Given the description of an element on the screen output the (x, y) to click on. 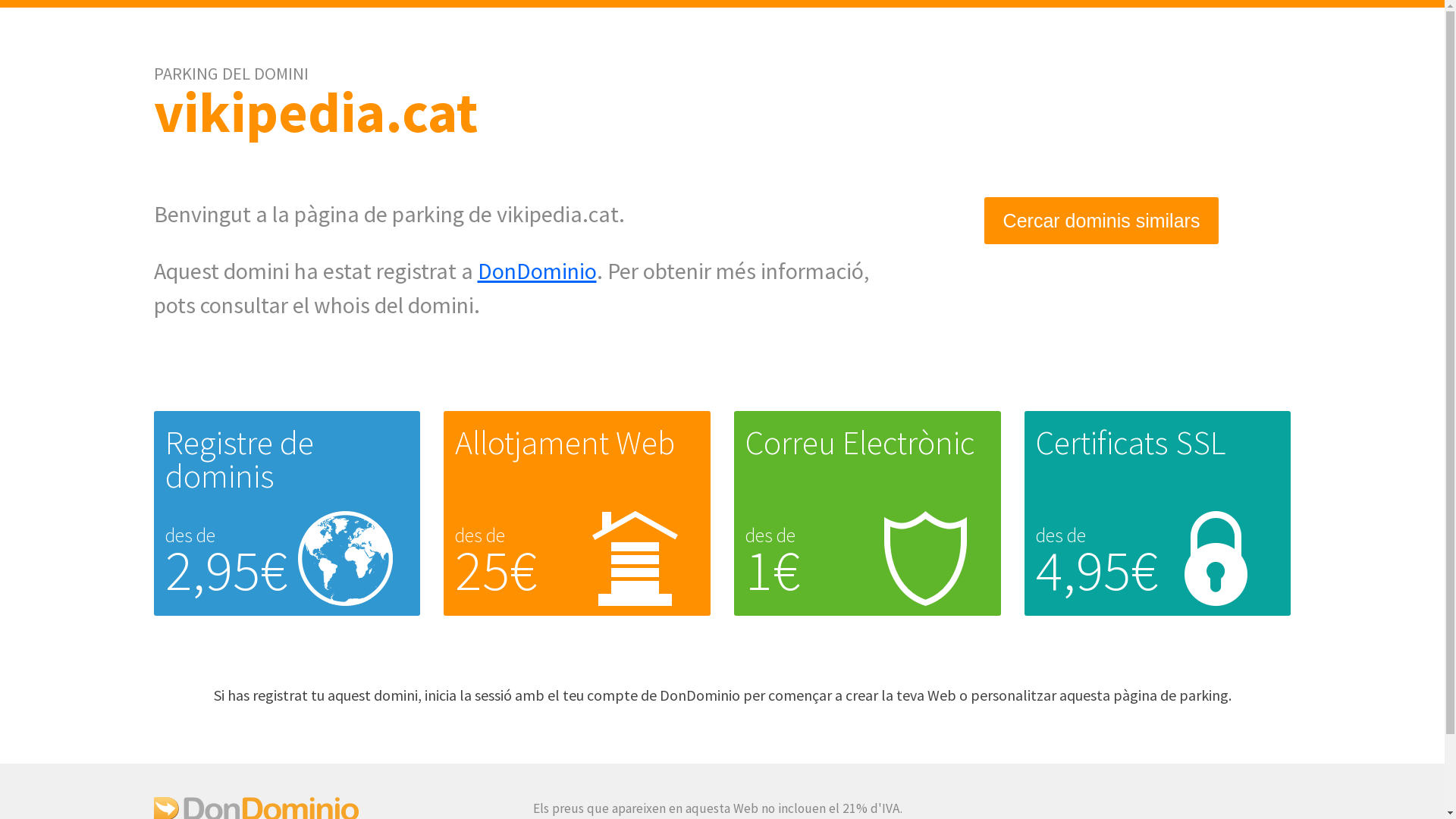
DonDominio Element type: text (536, 270)
Allotjament Web Element type: text (564, 442)
Cercar dominis similars Element type: text (1101, 220)
Registre de dominis Element type: text (239, 458)
Certificats SSL Element type: text (1130, 442)
